Given the description of an element on the screen output the (x, y) to click on. 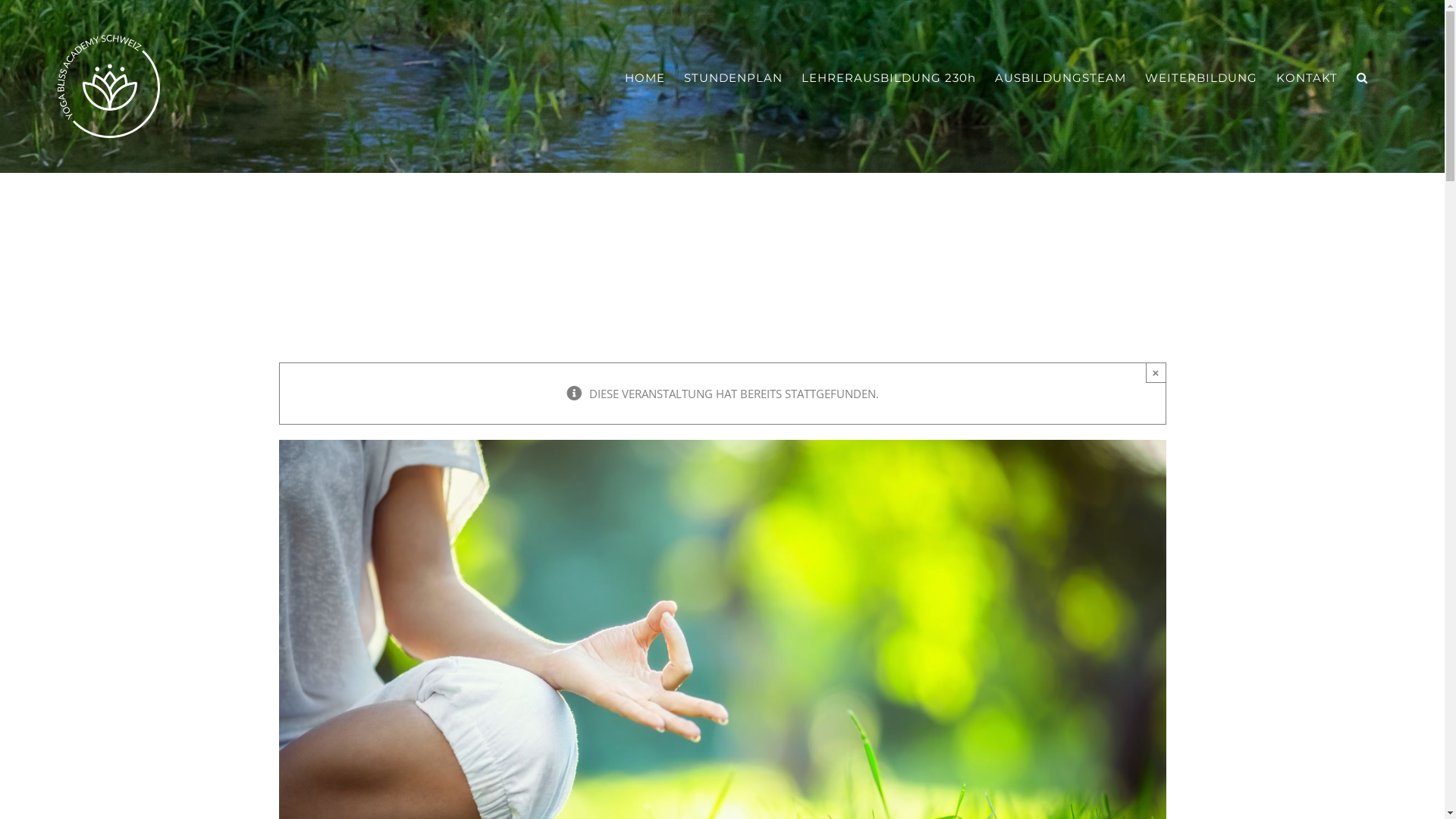
LEHRERAUSBILDUNG 230h Element type: text (888, 77)
AUSBILDUNGSTEAM Element type: text (1060, 77)
STUNDENPLAN Element type: text (733, 77)
KONTAKT Element type: text (1306, 77)
Suche Element type: hover (1362, 77)
HOME Element type: text (644, 77)
WEITERBILDUNG Element type: text (1201, 77)
